Given the description of an element on the screen output the (x, y) to click on. 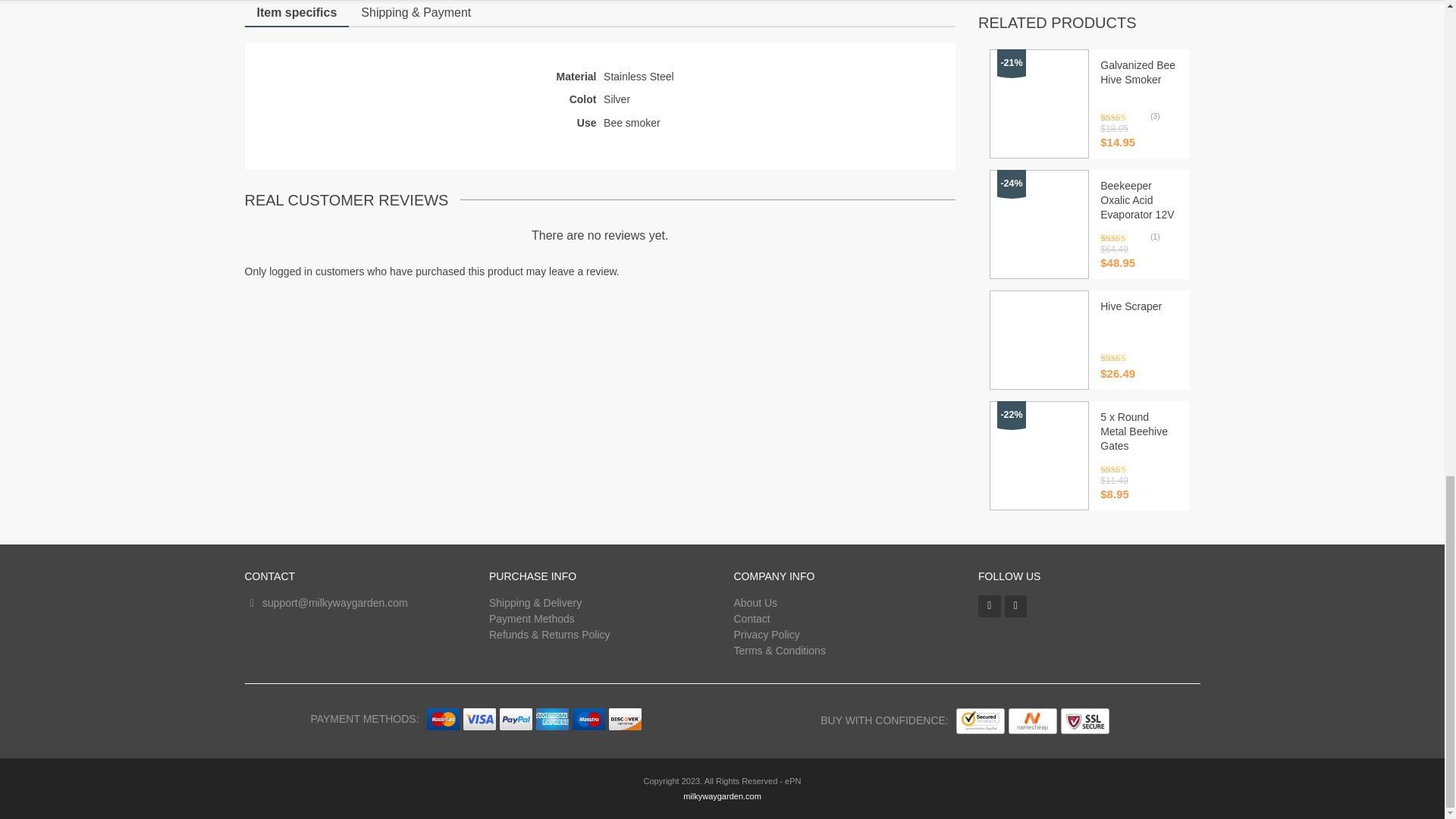
About Us (755, 603)
Item specifics (296, 12)
Payment Methods (532, 617)
